Given the description of an element on the screen output the (x, y) to click on. 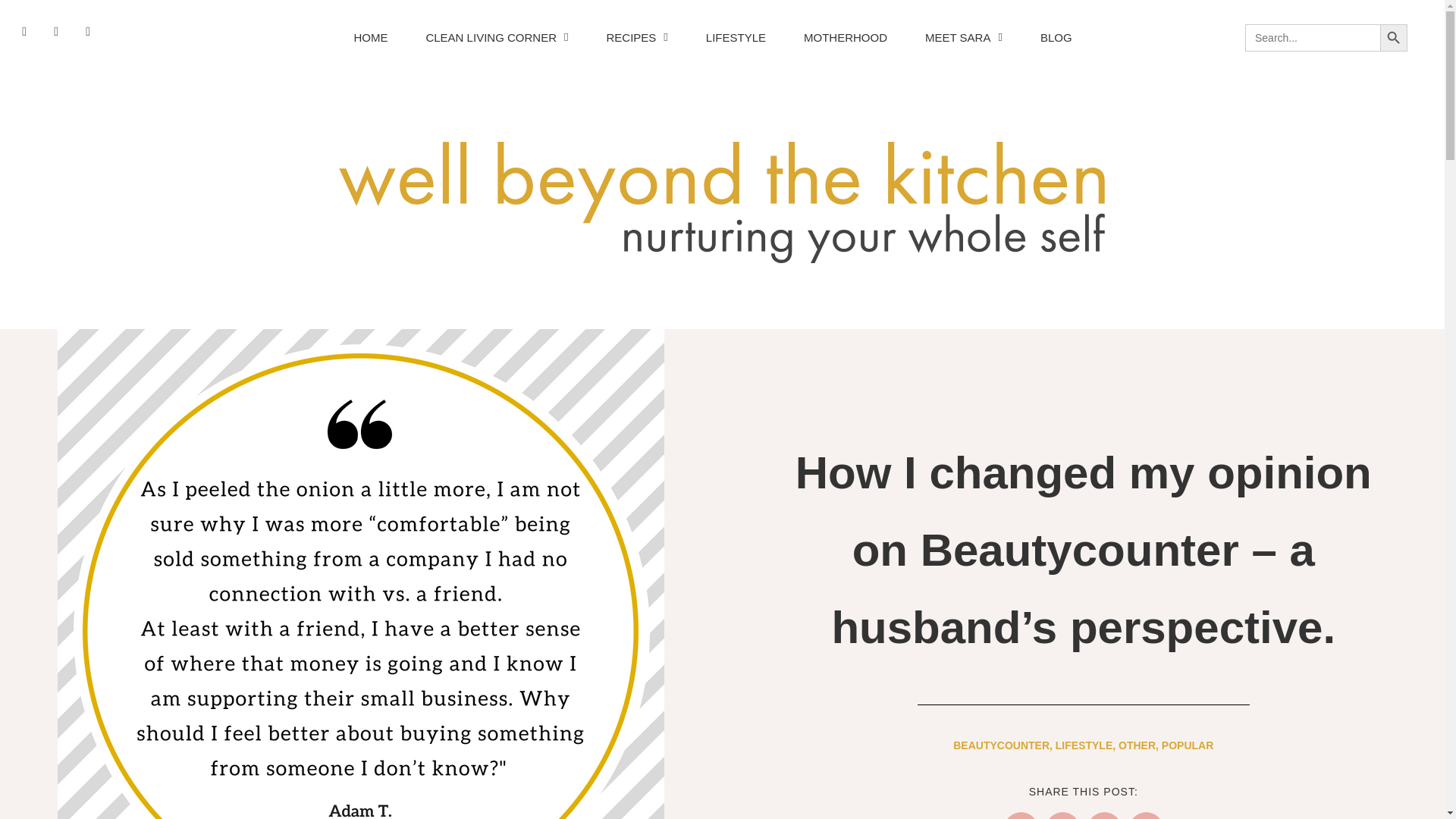
MOTHERHOOD (845, 37)
SEARCH BUTTON (1393, 37)
CLEAN LIVING CORNER (496, 37)
RECIPES (636, 37)
BLOG (1056, 37)
LIFESTYLE (735, 37)
MEET SARA (963, 37)
HOME (370, 37)
